Given the description of an element on the screen output the (x, y) to click on. 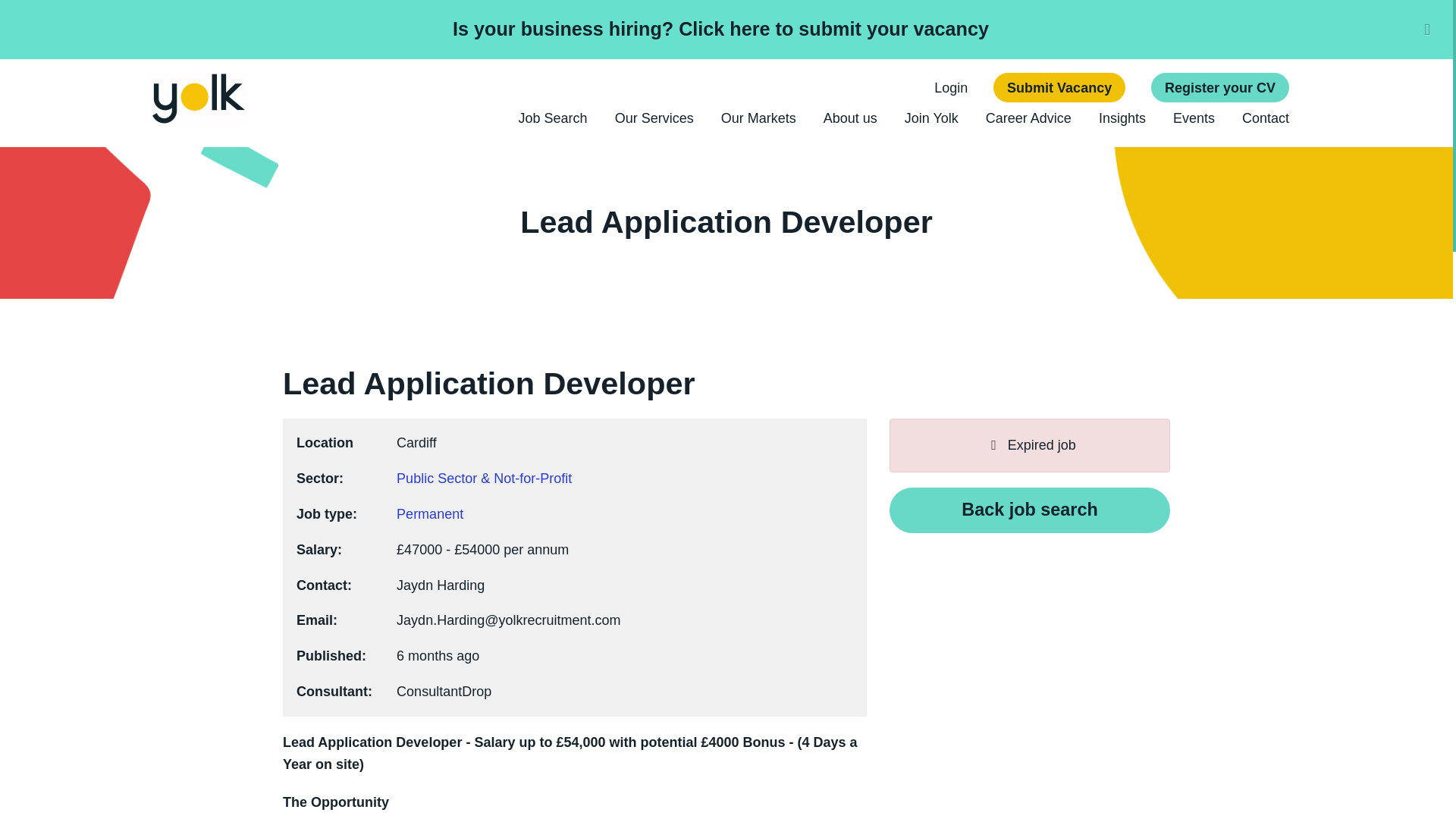
Insights (1122, 118)
Is your business hiring? Click here to submit your vacancy (720, 28)
Job Search (553, 118)
Back job search (1029, 509)
Join Yolk (931, 118)
Career Advice (1028, 118)
About us (850, 118)
Login (951, 87)
Permanent (429, 513)
Our Services (654, 118)
